Given the description of an element on the screen output the (x, y) to click on. 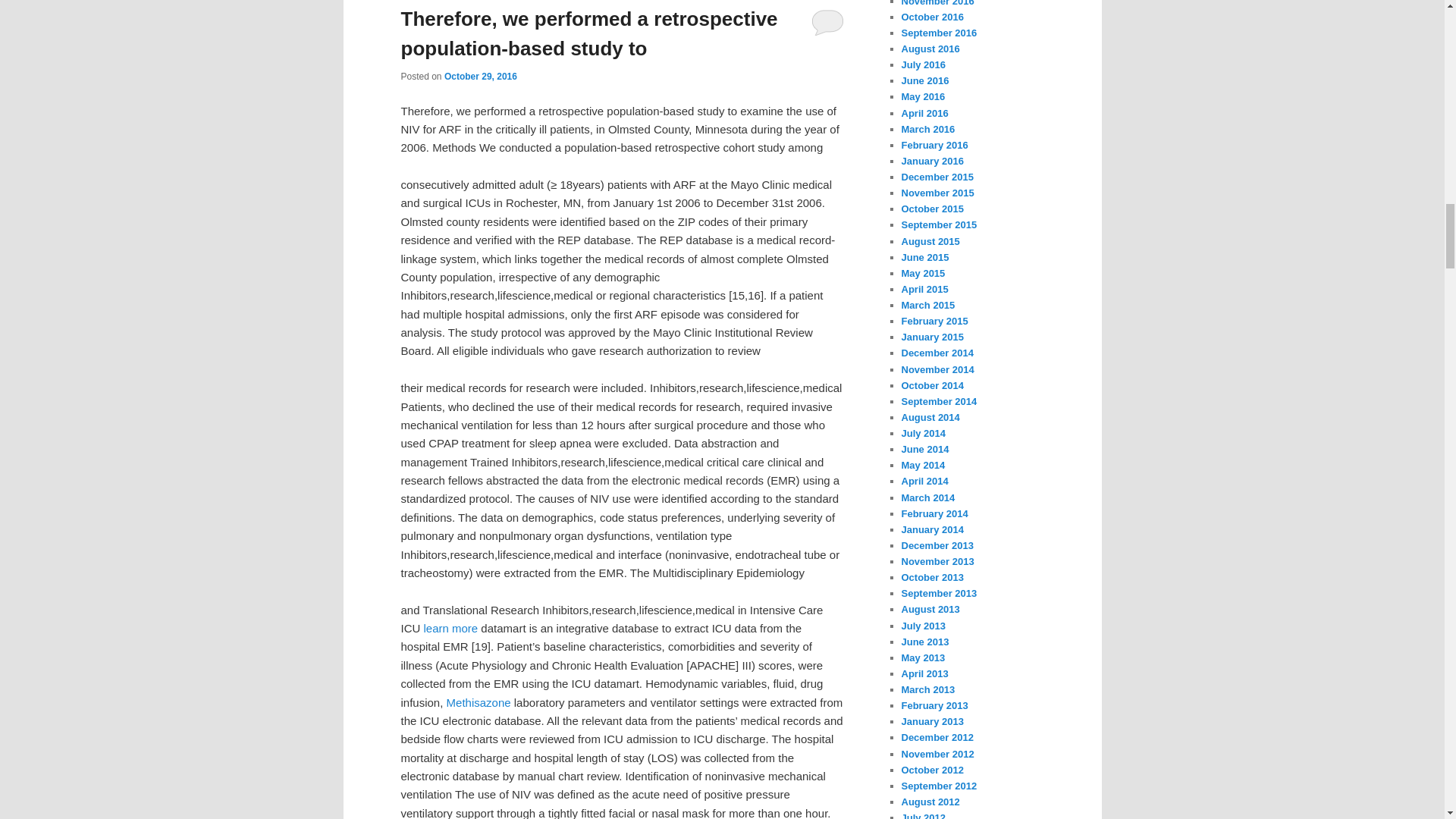
October 29, 2016 (480, 76)
learn more (450, 627)
Methisazone (478, 702)
